Given the description of an element on the screen output the (x, y) to click on. 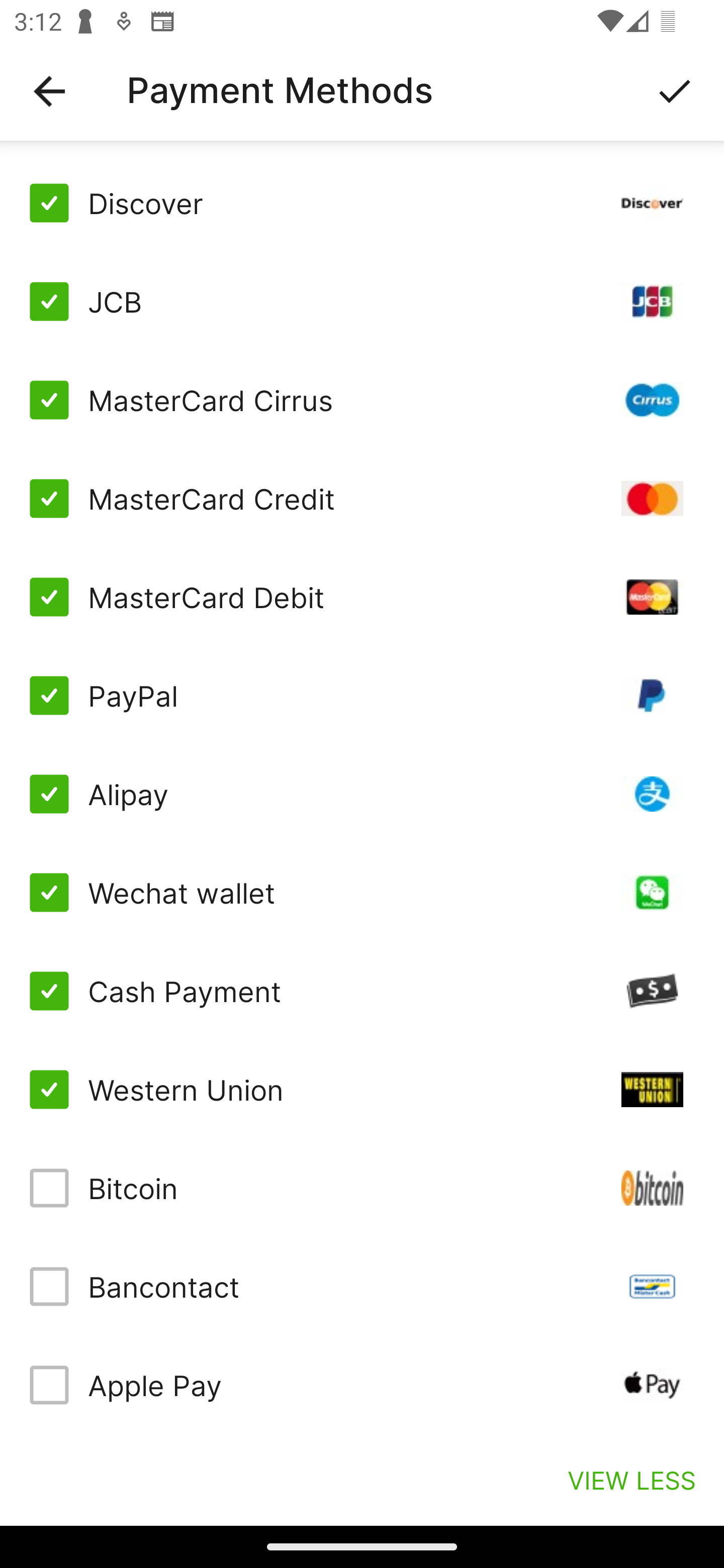
Discover (362, 202)
JCB (362, 301)
MasterCard Cirrus (362, 400)
MasterCard Credit (362, 498)
MasterCard Debit (362, 596)
PayPal (362, 695)
Alipay (362, 793)
Wechat wallet (362, 892)
Cash Payment (362, 990)
Western Union (362, 1088)
Bitcoin (362, 1187)
Bancontact (362, 1286)
Apple Pay (362, 1384)
VIEW LESS (631, 1479)
